Given the description of an element on the screen output the (x, y) to click on. 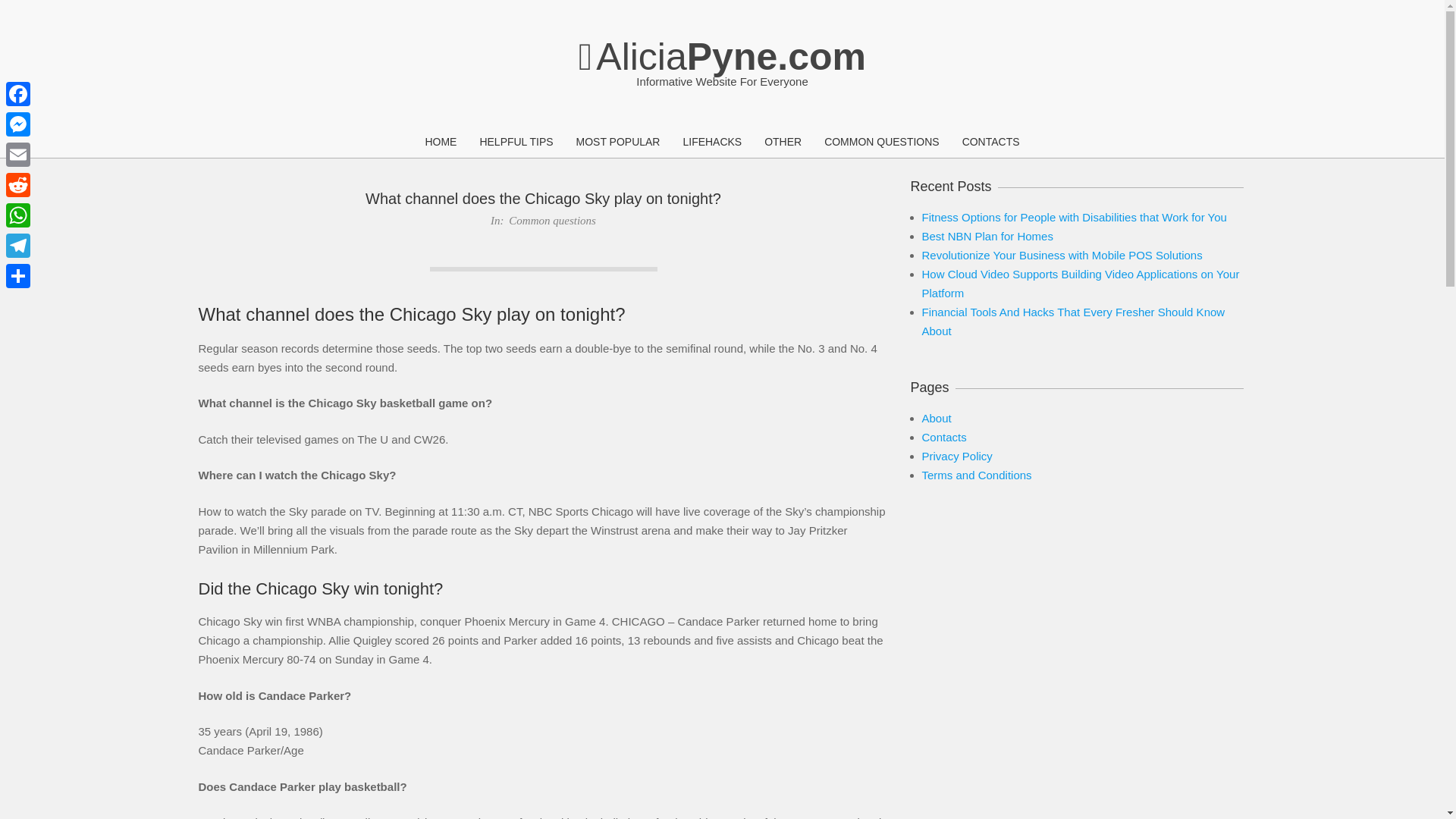
HELPFUL TIPS (515, 142)
Privacy Policy (956, 455)
WhatsApp (17, 214)
HOME (440, 142)
Facebook (17, 93)
COMMON QUESTIONS (881, 142)
Messenger (17, 123)
Contacts (943, 436)
Telegram (17, 245)
Best NBN Plan for Homes (986, 236)
